Given the description of an element on the screen output the (x, y) to click on. 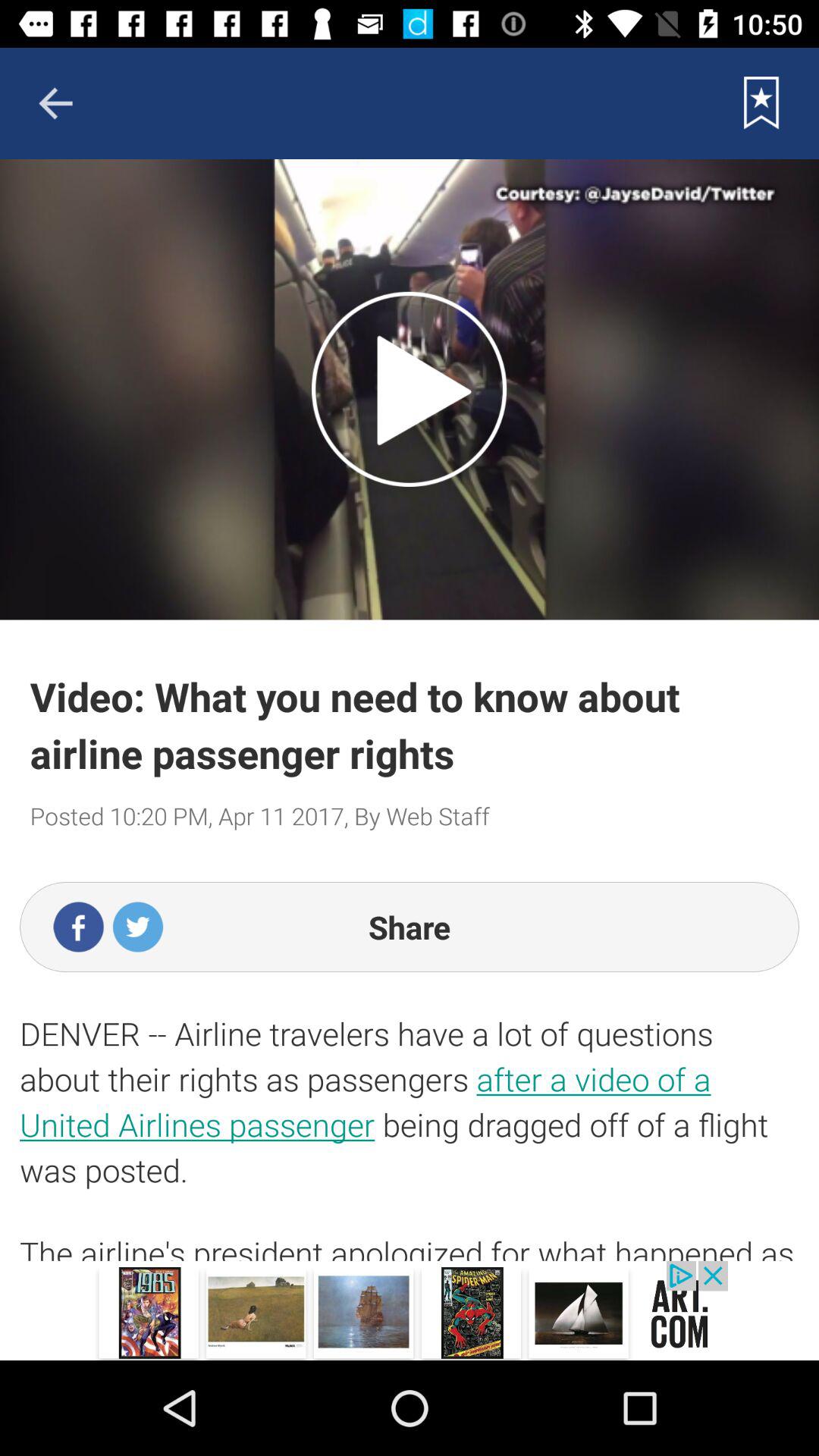
go back (55, 103)
